Given the description of an element on the screen output the (x, y) to click on. 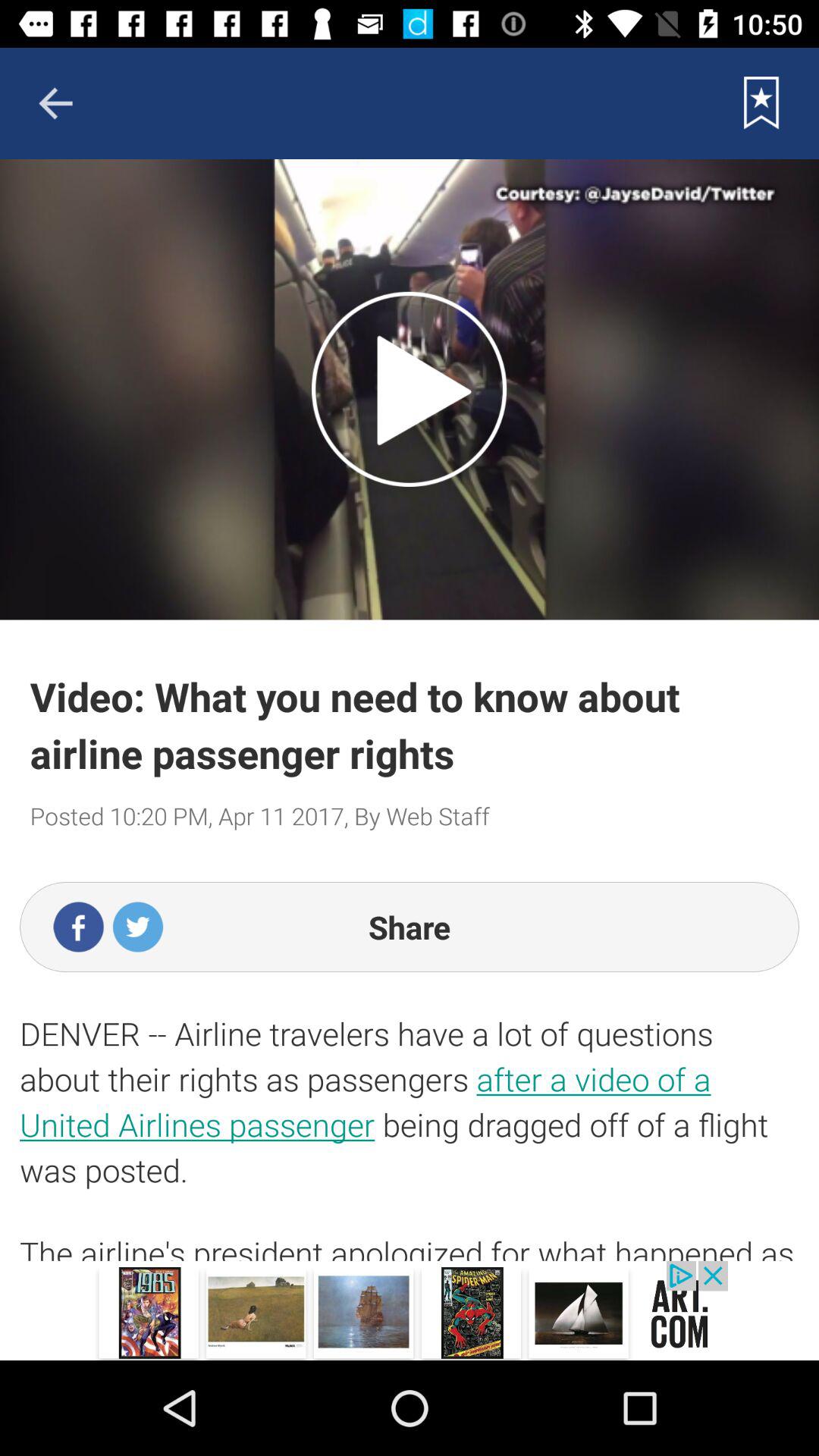
go back (55, 103)
